Given the description of an element on the screen output the (x, y) to click on. 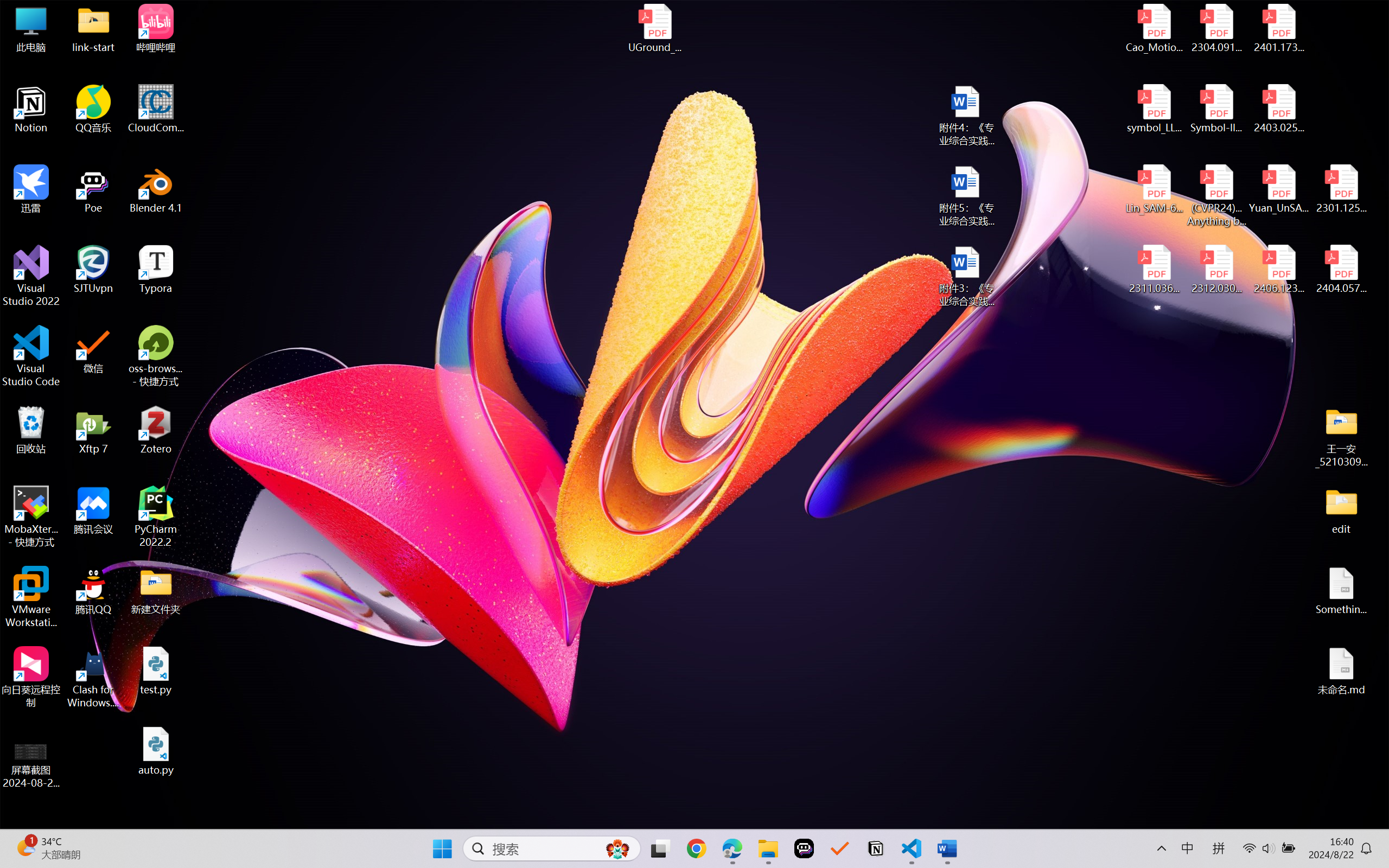
2311.03658v2.pdf (1154, 269)
Poe (93, 189)
Blender 4.1 (156, 189)
2404.05719v1.pdf (1340, 269)
Xftp 7 (93, 430)
2312.03032v2.pdf (1216, 269)
